Given the description of an element on the screen output the (x, y) to click on. 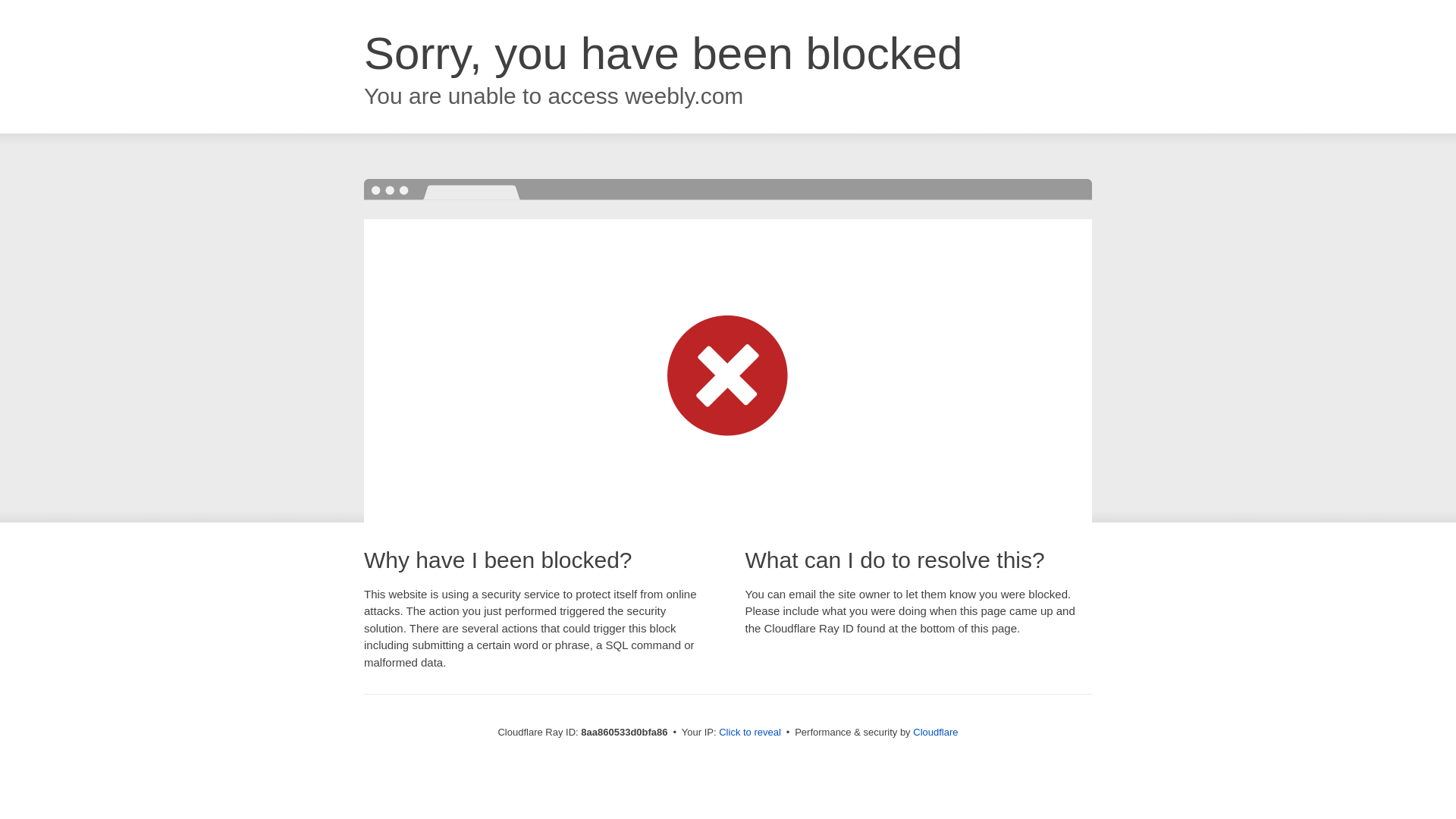
Cloudflare (935, 731)
Click to reveal (749, 732)
